Given the description of an element on the screen output the (x, y) to click on. 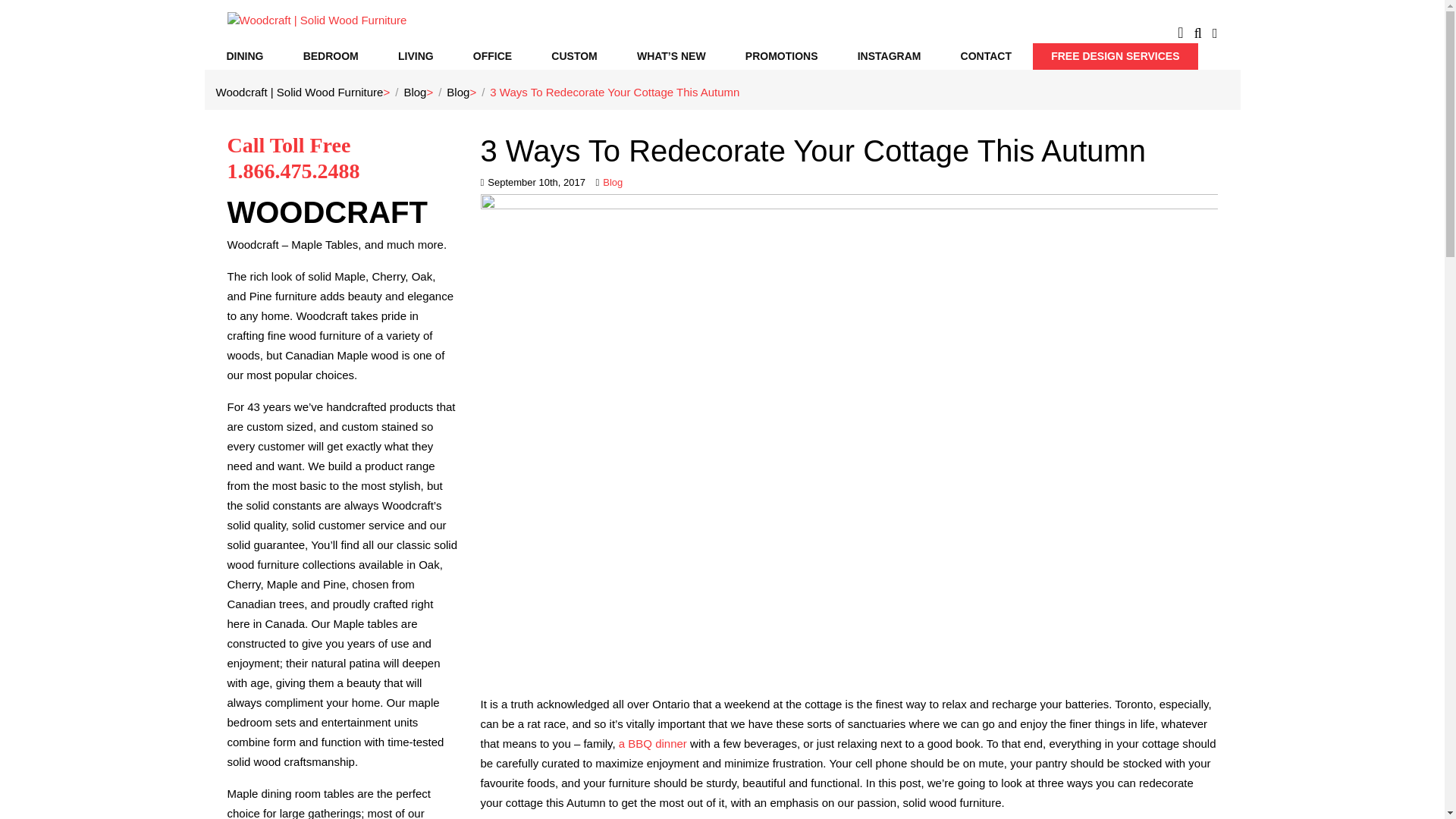
PROMOTIONS (780, 55)
OFFICE (491, 55)
CUSTOM (573, 55)
DINING (244, 55)
Go to the Blog Category archives. (457, 91)
BEDROOM (331, 55)
Go to Blog. (414, 91)
LIVING (415, 55)
